Given the description of an element on the screen output the (x, y) to click on. 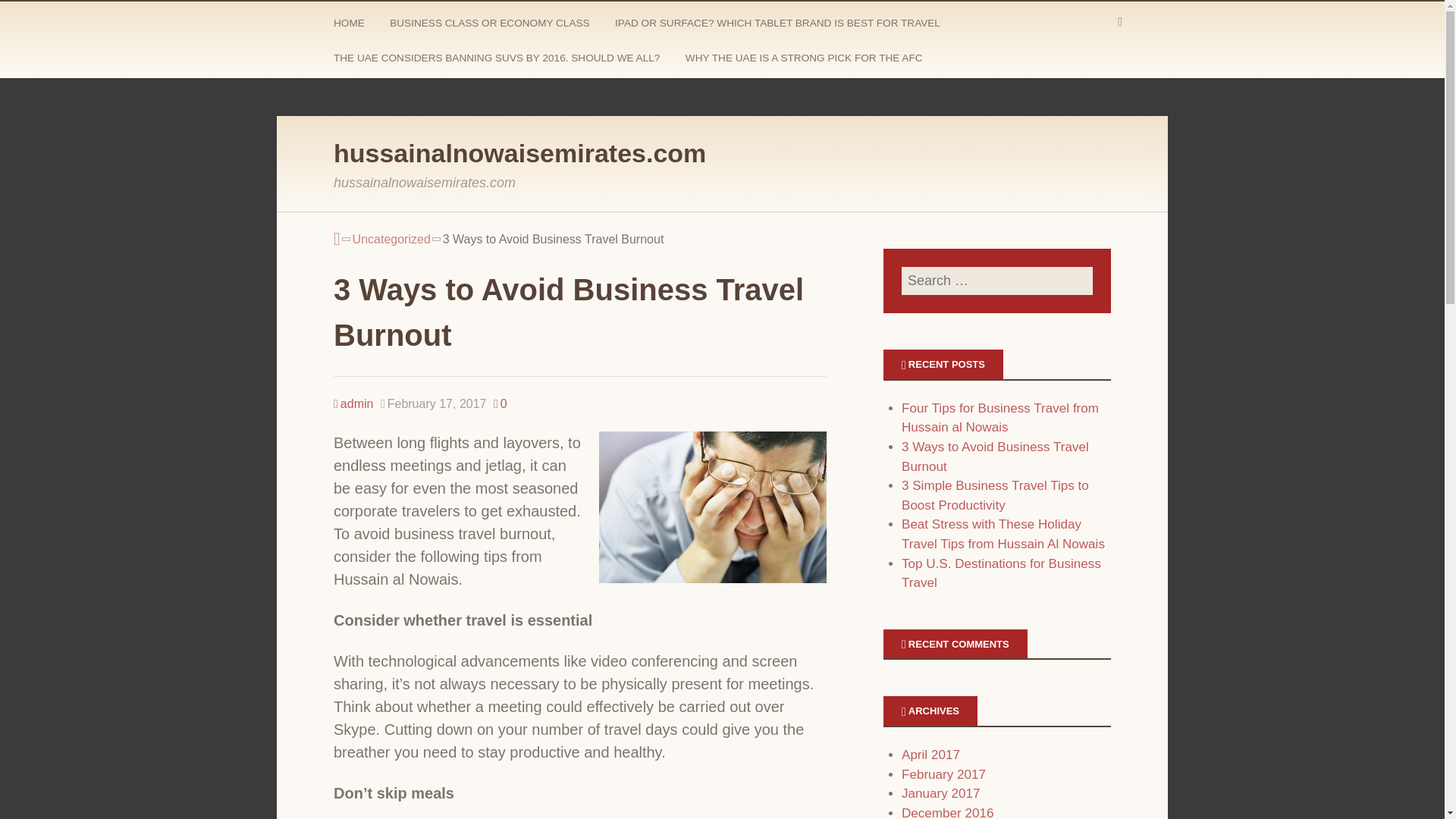
BUSINESS CLASS OR ECONOMY CLASS (491, 26)
hussainalnowaisemirates.com (519, 152)
Search (30, 15)
January 2017 (940, 793)
February 2017 (943, 774)
Uncategorized (391, 239)
THE UAE CONSIDERS BANNING SUVS BY 2016. SHOULD WE ALL? (498, 61)
Posts by admin (352, 403)
3 Simple Business Travel Tips to Boost Productivity (995, 495)
April 2017 (930, 754)
